Given the description of an element on the screen output the (x, y) to click on. 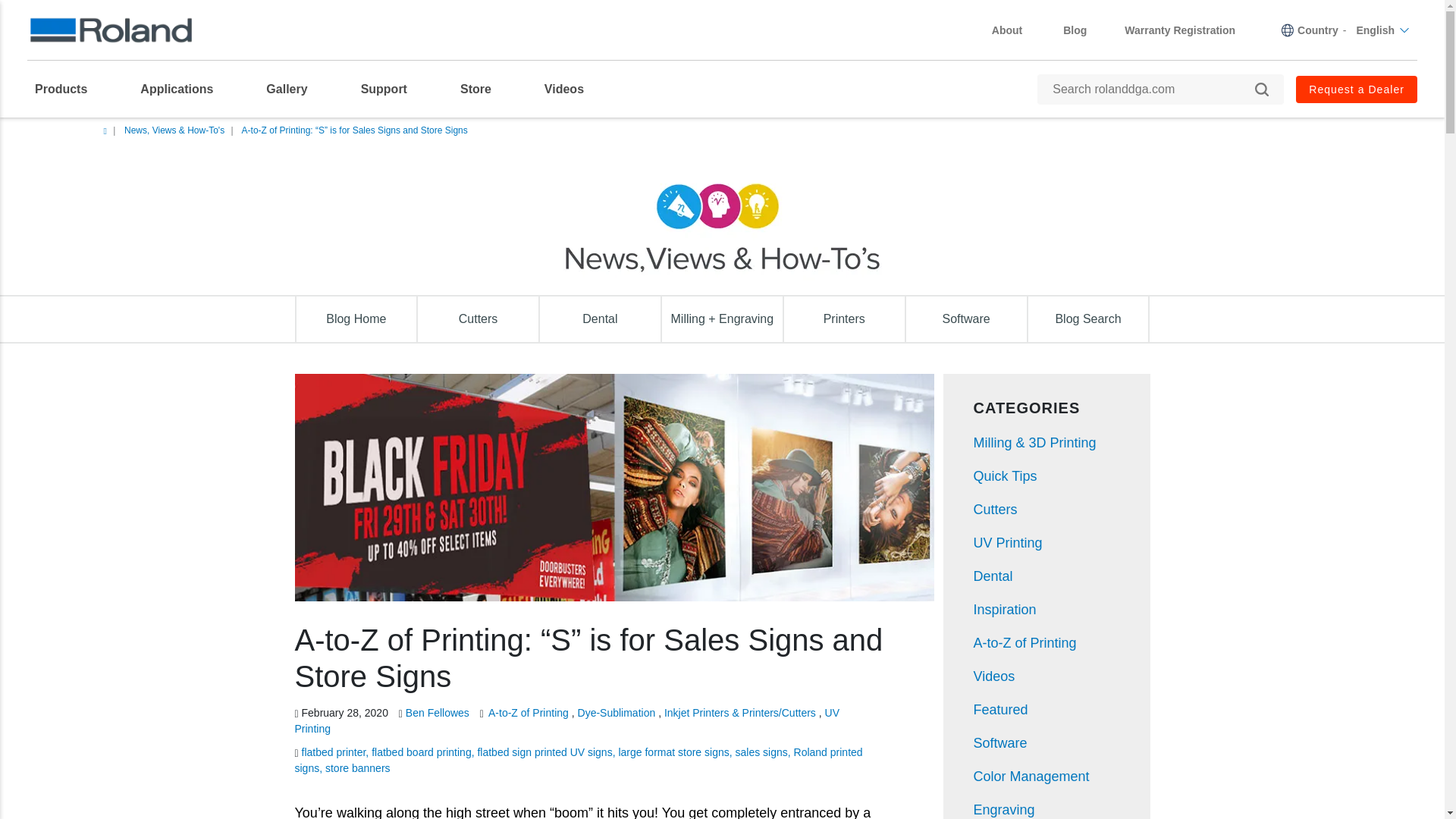
Country (1317, 30)
About (1014, 30)
Change country (1317, 30)
Warranty Registration (1179, 30)
Blog (1074, 30)
Products (68, 88)
English (1382, 30)
